Given the description of an element on the screen output the (x, y) to click on. 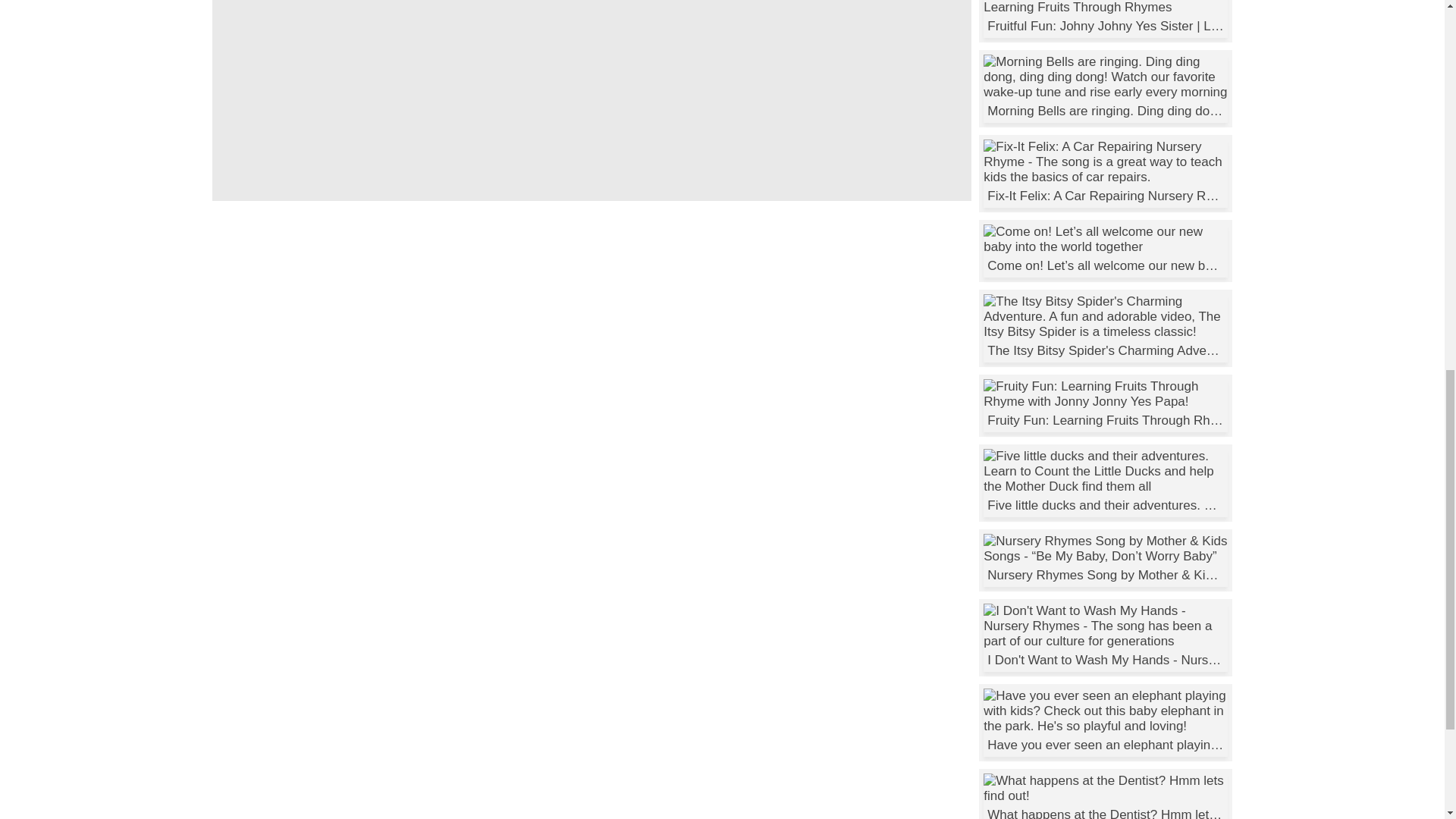
What happens at the Dentist? Hmm lets find out! (1105, 796)
